Given the description of an element on the screen output the (x, y) to click on. 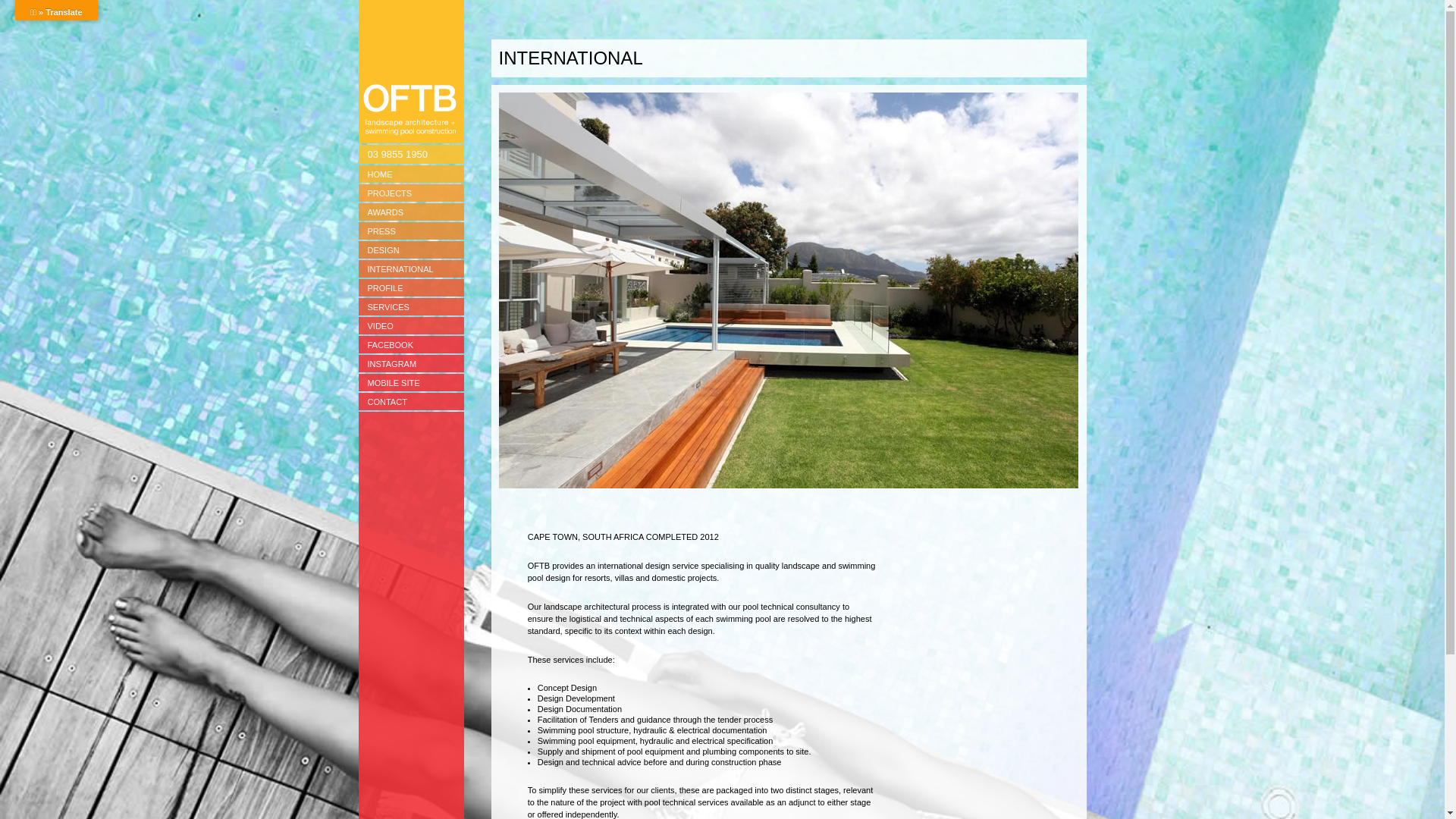
AWARDS Element type: text (410, 211)
INTERNATIONAL Element type: text (410, 268)
SERVICES Element type: text (410, 306)
DESIGN Element type: text (410, 249)
PRESS Element type: text (410, 230)
PROFILE Element type: text (410, 287)
CONTACT Element type: text (410, 401)
INSTAGRAM Element type: text (410, 363)
VIDEO Element type: text (410, 325)
FACEBOOK Element type: text (410, 344)
PROJECTS Element type: text (410, 192)
  Element type: text (410, 71)
HOME Element type: text (410, 173)
MOBILE SITE Element type: text (410, 382)
